Given the description of an element on the screen output the (x, y) to click on. 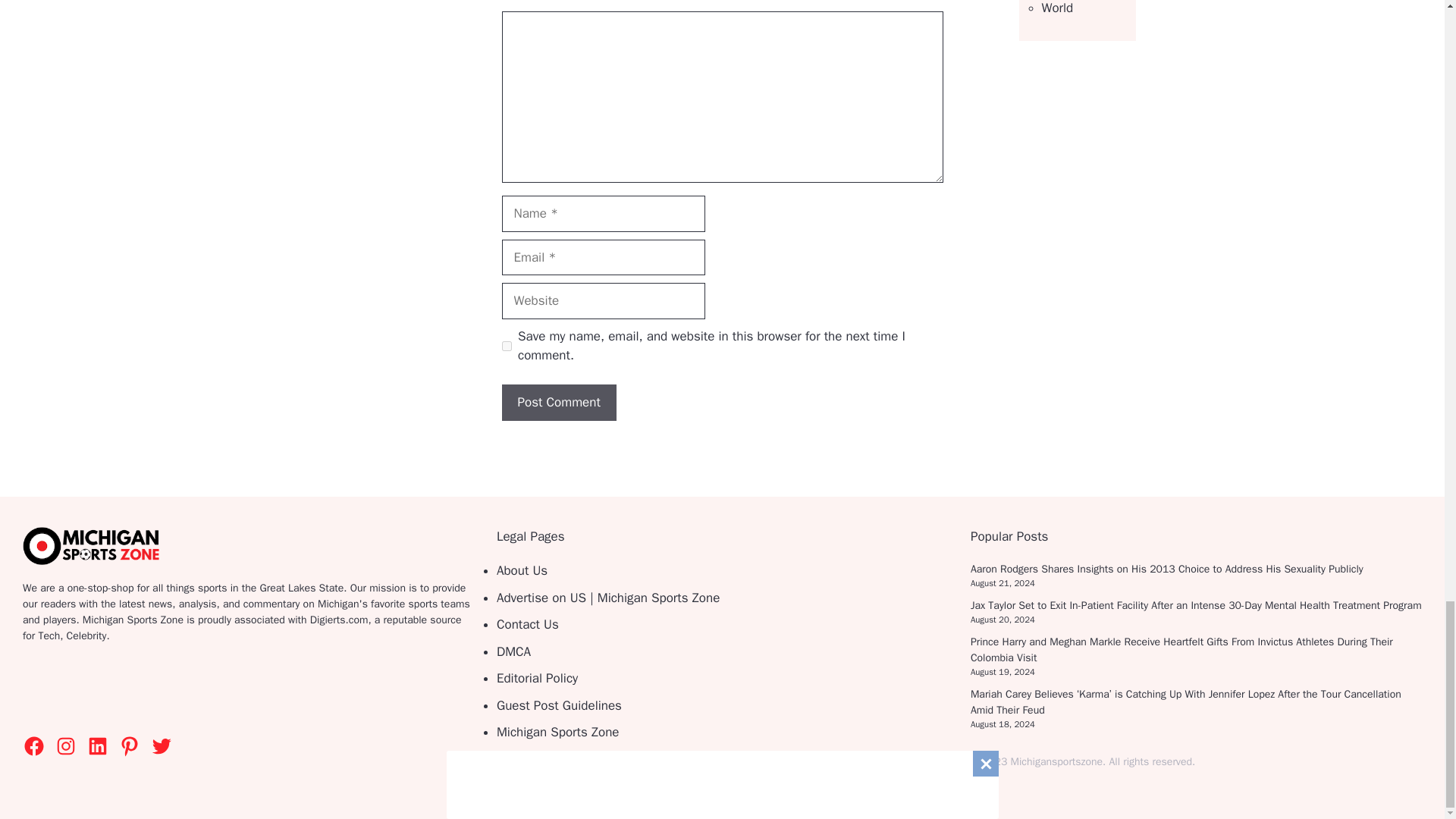
yes (507, 346)
Post Comment (558, 402)
google-news (122, 689)
